Given the description of an element on the screen output the (x, y) to click on. 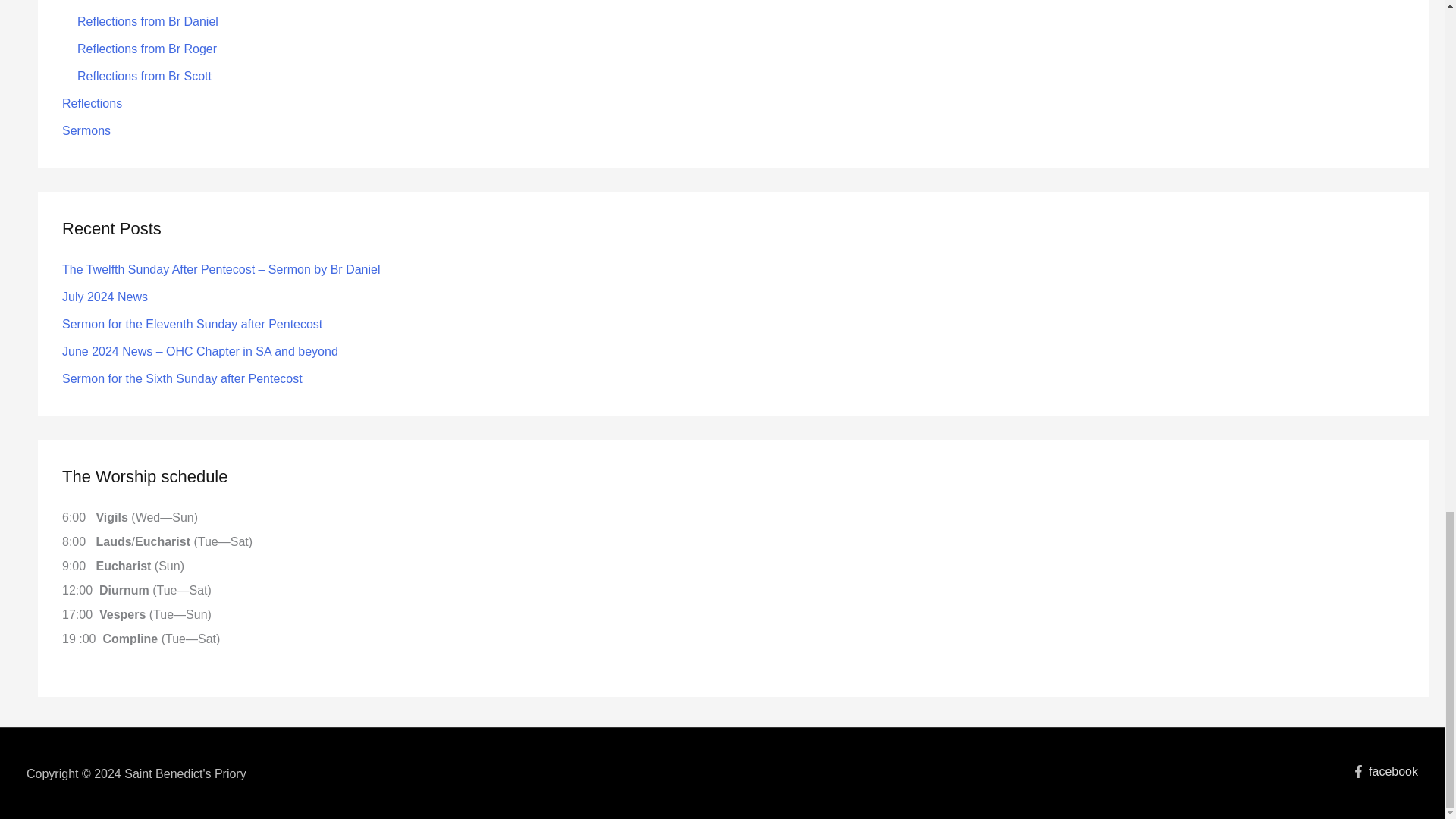
Reflections from Br Roger (146, 48)
Reflections from Br Daniel (147, 21)
Reflections from Br Scott (144, 75)
